Given the description of an element on the screen output the (x, y) to click on. 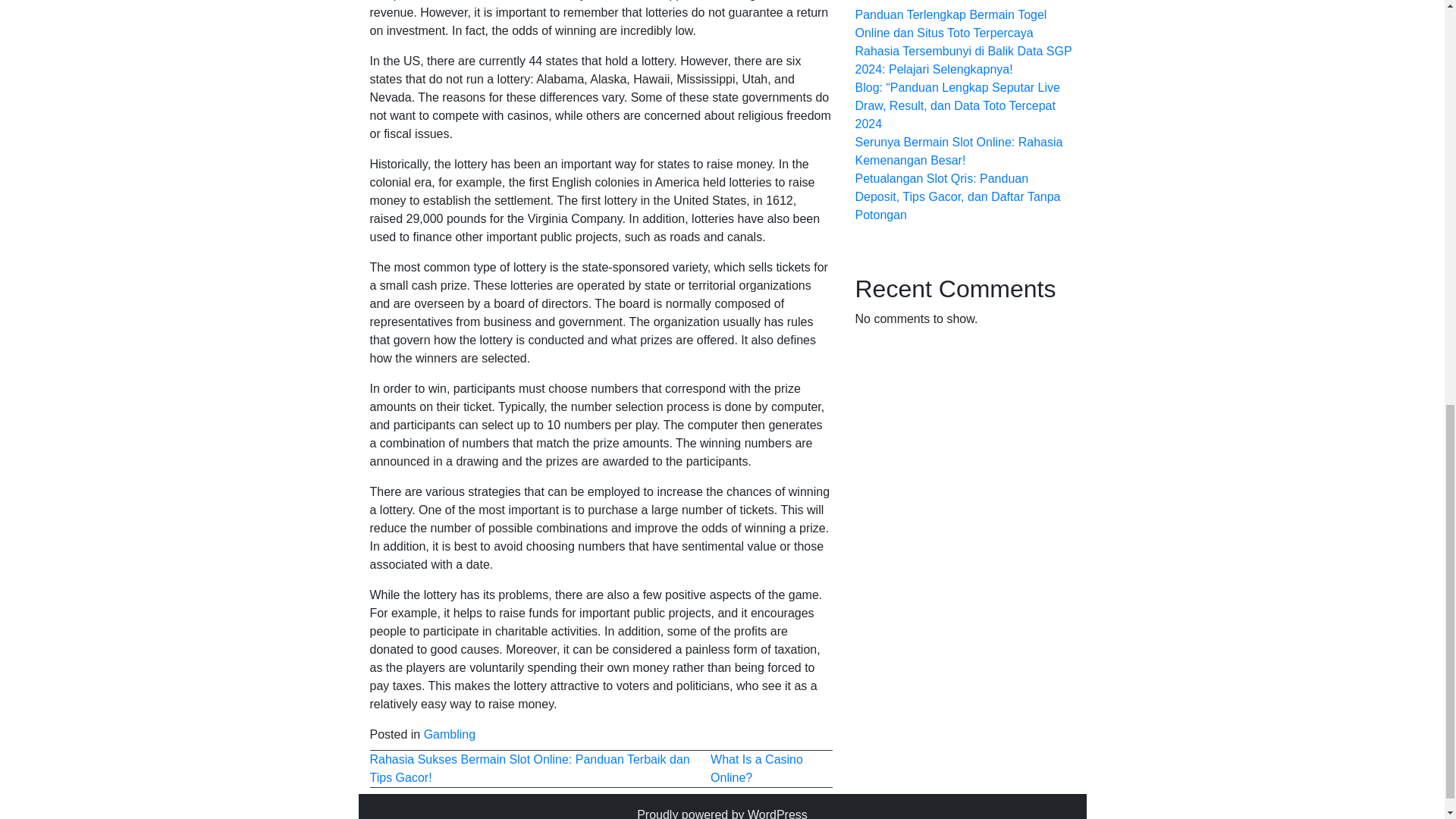
Gambling (449, 734)
What Is a Casino Online? (756, 767)
